Given the description of an element on the screen output the (x, y) to click on. 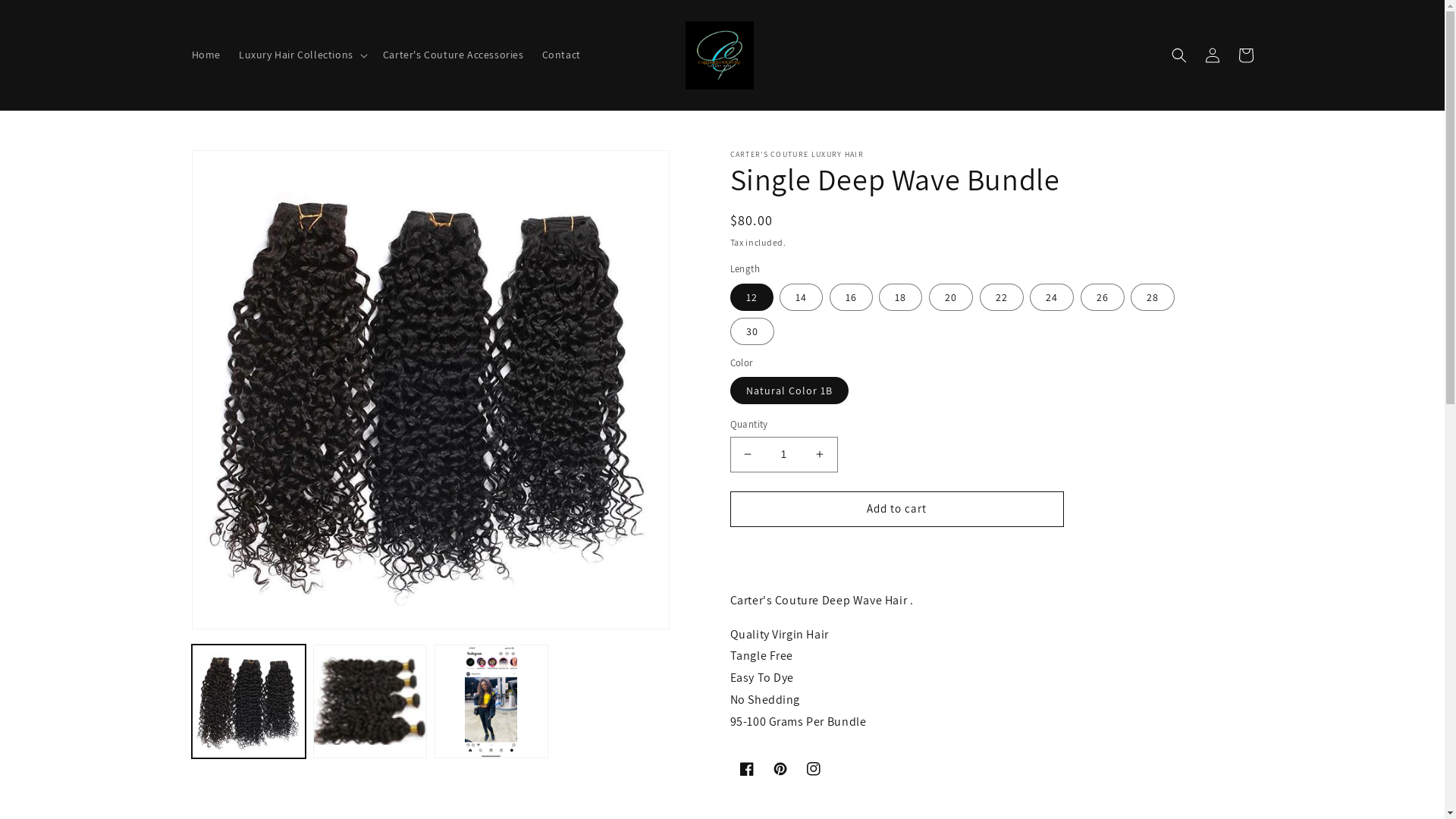
Skip to product information Element type: text (237, 167)
Log in Element type: text (1211, 54)
Increase quantity for Single Deep Wave Bundle Element type: text (819, 454)
Decrease quantity for Single Deep Wave Bundle Element type: text (748, 454)
Pinterest Element type: text (779, 768)
Facebook Element type: text (745, 768)
Instagram Element type: text (812, 768)
Add to cart Element type: text (896, 509)
Contact Element type: text (561, 54)
Cart Element type: text (1244, 54)
Home Element type: text (205, 54)
Carter's Couture Accessories Element type: text (453, 54)
